Given the description of an element on the screen output the (x, y) to click on. 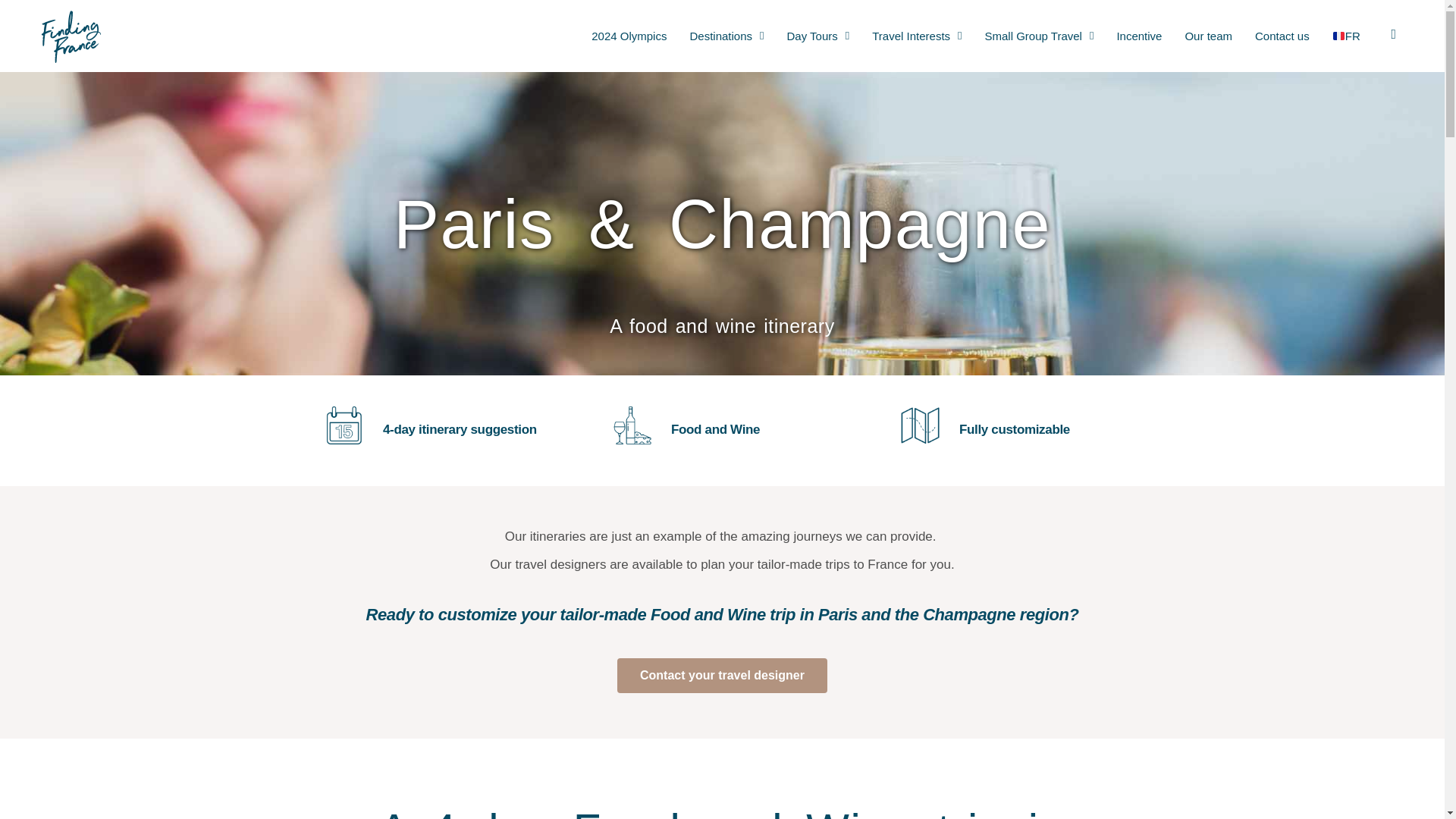
Day Tours (817, 35)
2024 Olympics (628, 35)
Destinations (726, 35)
